Given the description of an element on the screen output the (x, y) to click on. 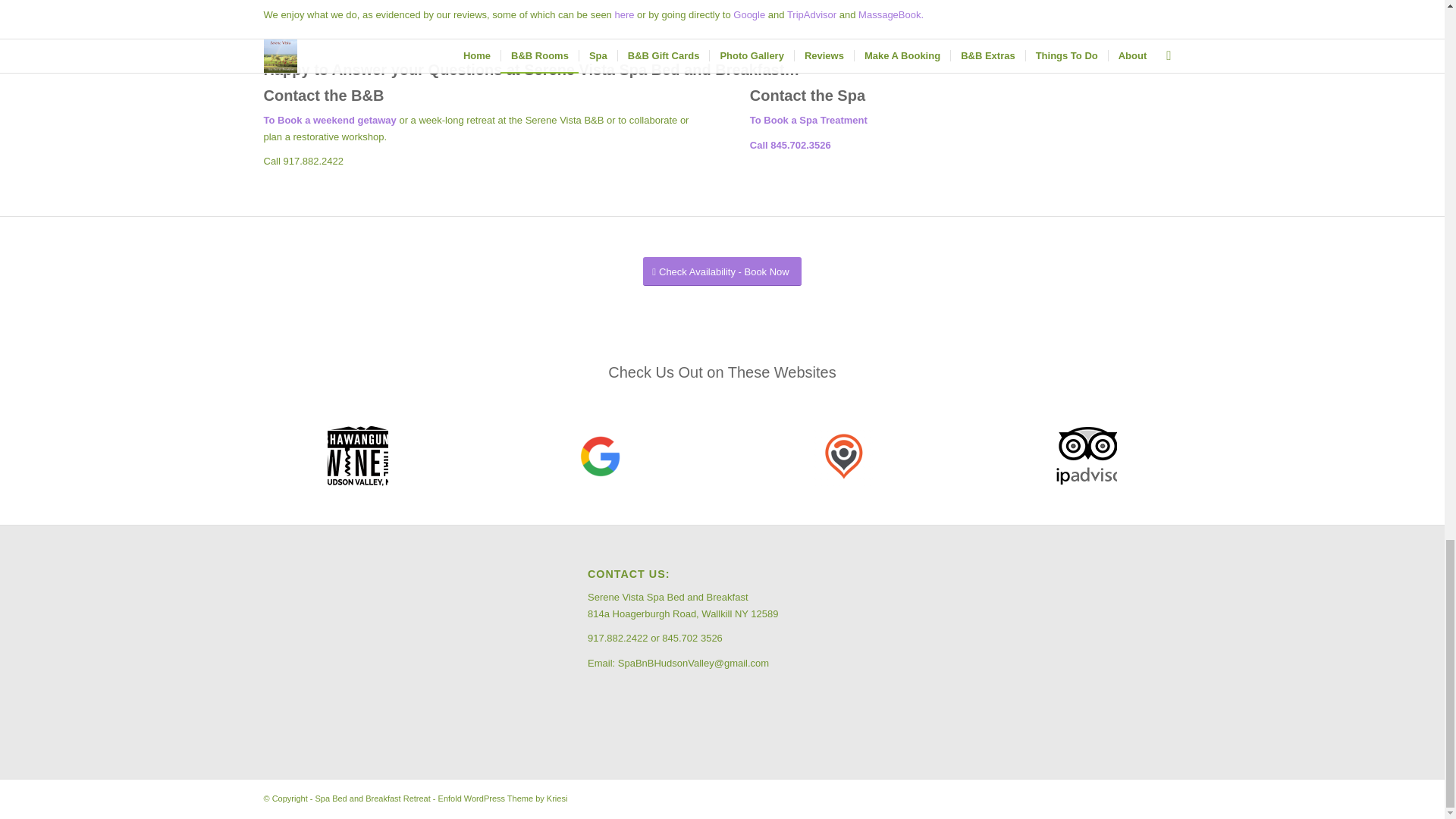
Shawangunk Rail Trail logo (357, 455)
google-logo (600, 455)
MassageBook logo (844, 455)
trip-advisor-logo (1086, 455)
